Given the description of an element on the screen output the (x, y) to click on. 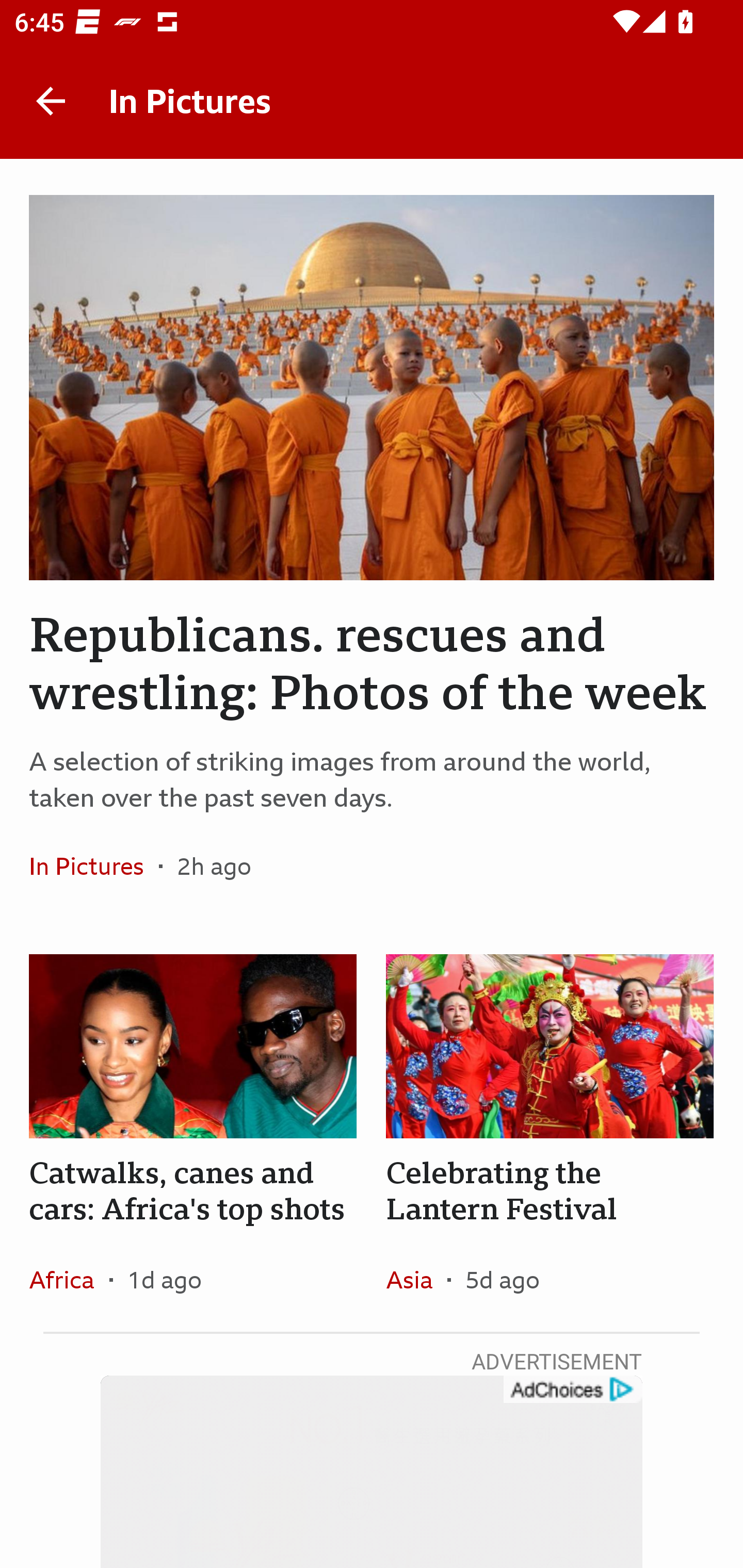
Back (50, 101)
In Pictures In the section In Pictures (93, 865)
Africa In the section Africa (68, 1279)
Asia In the section Asia (416, 1279)
Video Player get?name=admarker-full-tl   (371, 1471)
get?name=admarker-full-tl (571, 1389)
